Given the description of an element on the screen output the (x, y) to click on. 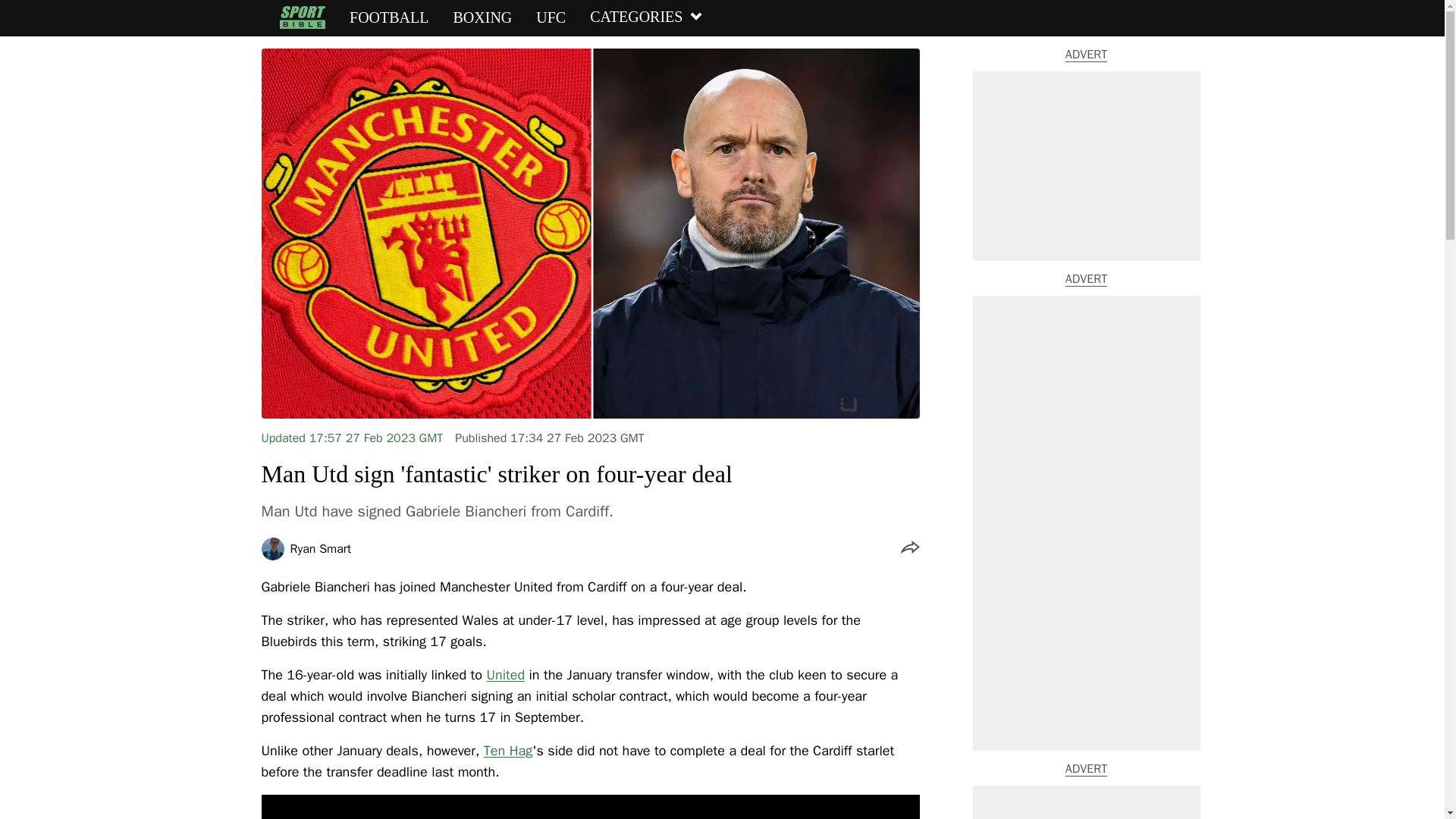
BOXING (482, 17)
FOOTBALL (388, 17)
